Given the description of an element on the screen output the (x, y) to click on. 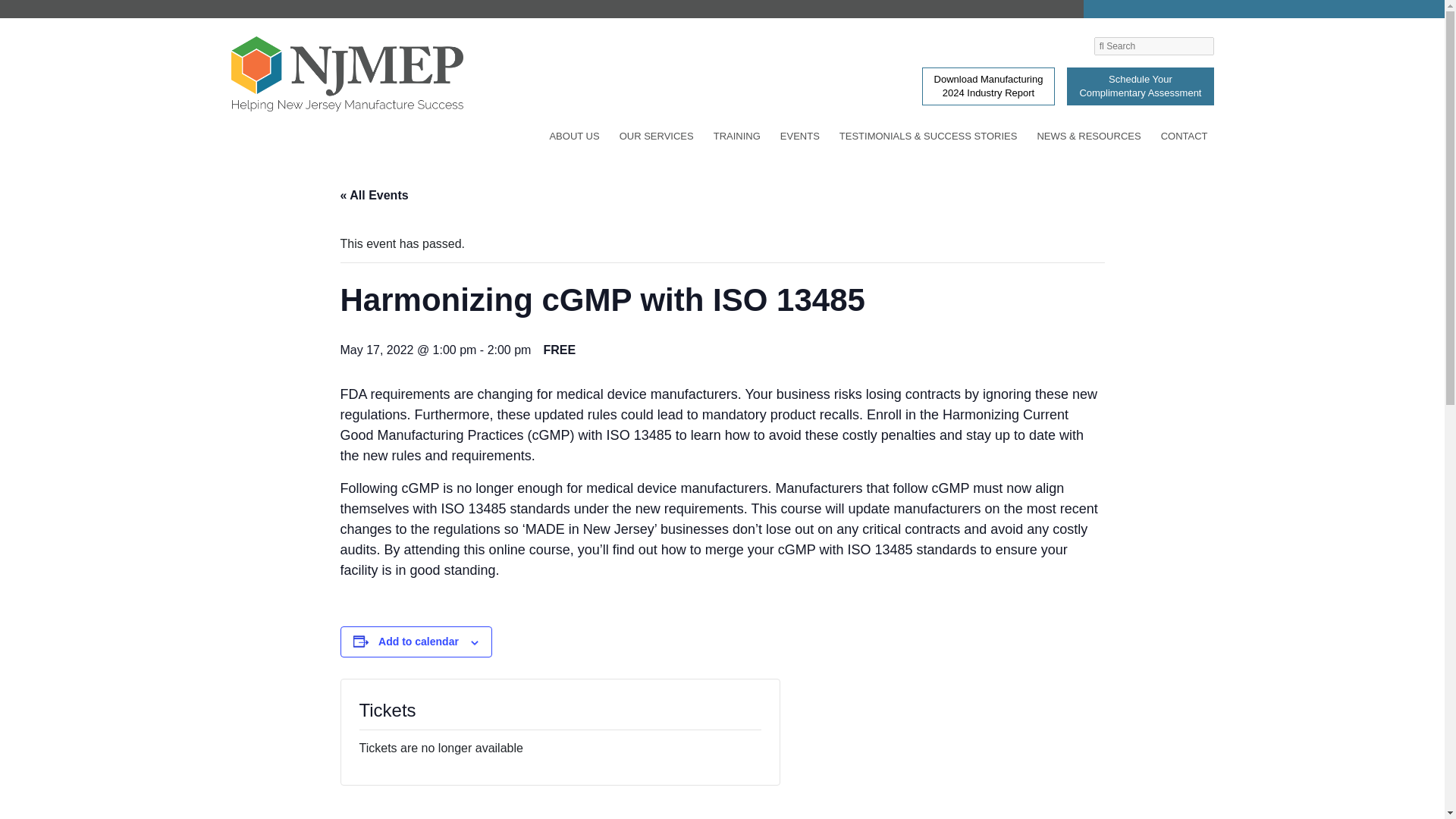
OUR SERVICES (656, 139)
Affiliate Program (339, 26)
Calendar (339, 8)
ABOUT US (574, 139)
TRAINING (737, 139)
Classes (339, 32)
Medical Device Manufacturing (339, 11)
The Manufacturing Counts Initiative (339, 4)
